Given the description of an element on the screen output the (x, y) to click on. 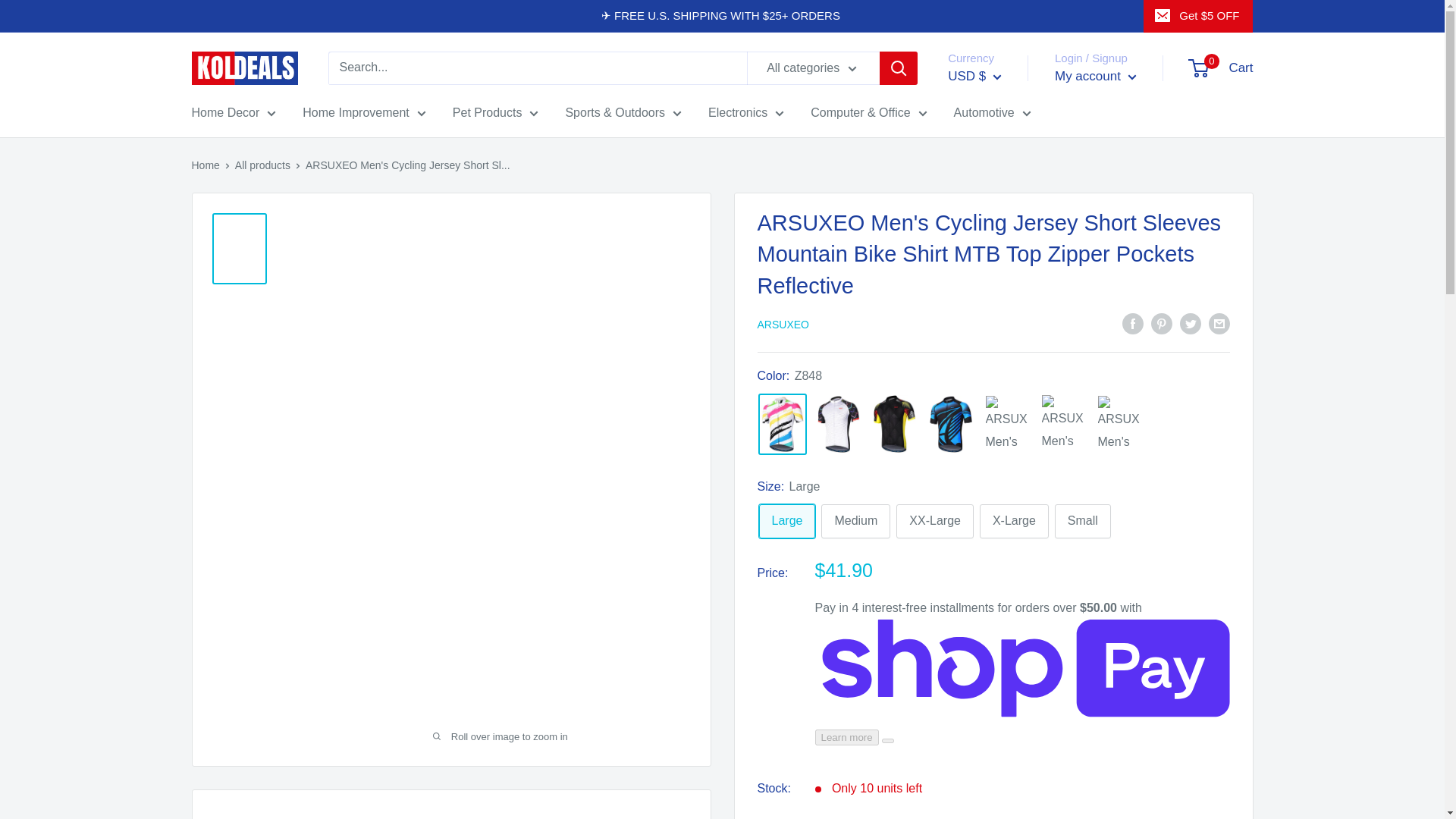
Z845 (1118, 424)
Z843 (950, 424)
Z842 (1006, 424)
Medium (855, 521)
XX-Large (935, 521)
Z850 (894, 423)
Z848 (782, 424)
Z846 (838, 424)
Large (786, 521)
Z849 (1063, 423)
Small (1082, 521)
X-Large (1013, 521)
